Given the description of an element on the screen output the (x, y) to click on. 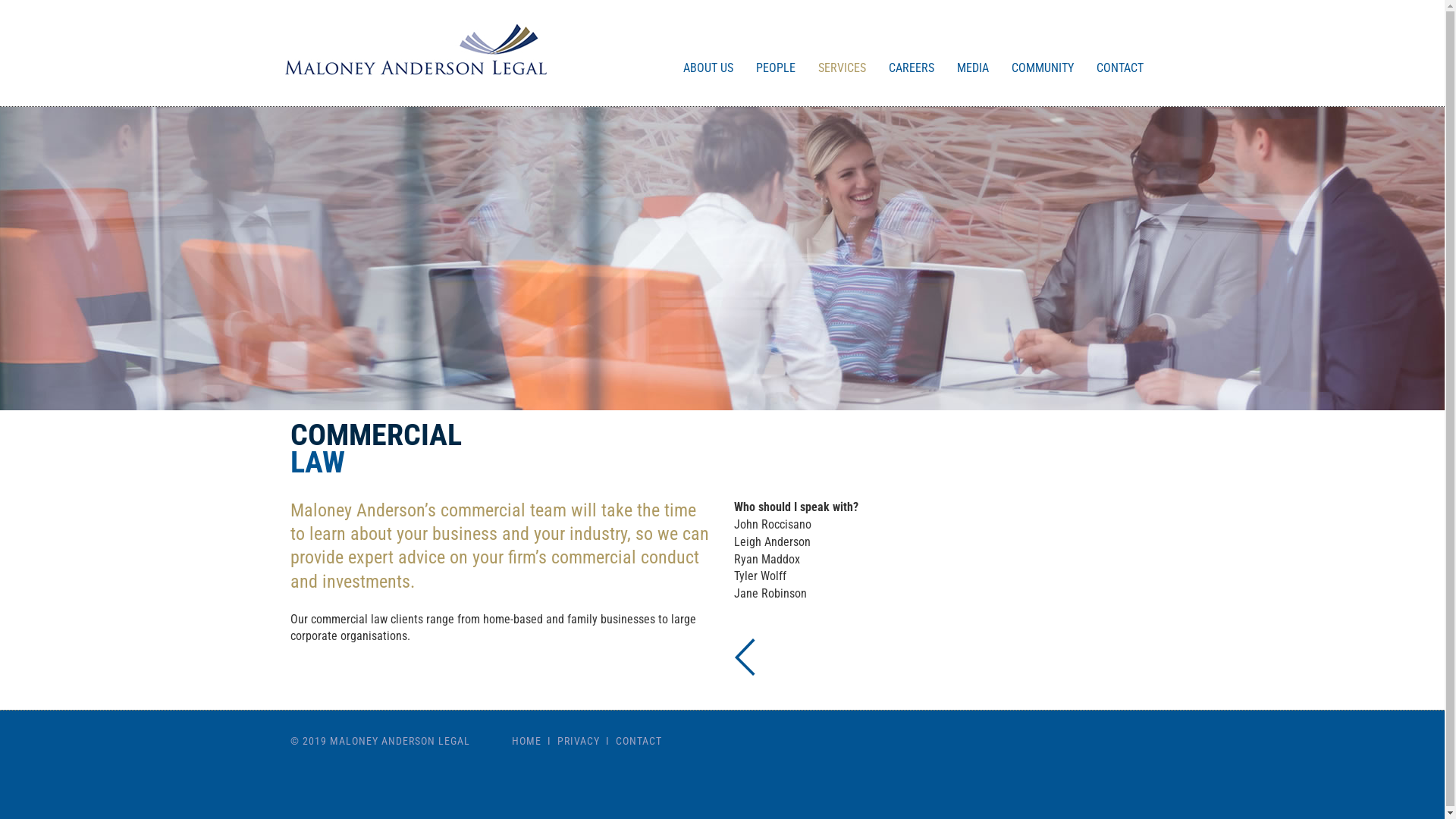
MEDIA Element type: text (971, 53)
SERVICES Element type: text (841, 53)
PEOPLE Element type: text (775, 53)
CAREERS Element type: text (910, 53)
PRIVACY Element type: text (578, 740)
Leigh Anderson Element type: text (772, 541)
CONTACT Element type: text (1119, 53)
HOME Element type: text (526, 740)
COMMUNITY Element type: text (1041, 53)
John Roccisano Element type: text (772, 524)
Ryan Maddox Element type: text (767, 559)
Tyler Wolff Element type: text (760, 575)
CONTACT Element type: text (638, 740)
Jane Robinson Element type: text (770, 593)
ABOUT US Element type: text (707, 53)
